Given the description of an element on the screen output the (x, y) to click on. 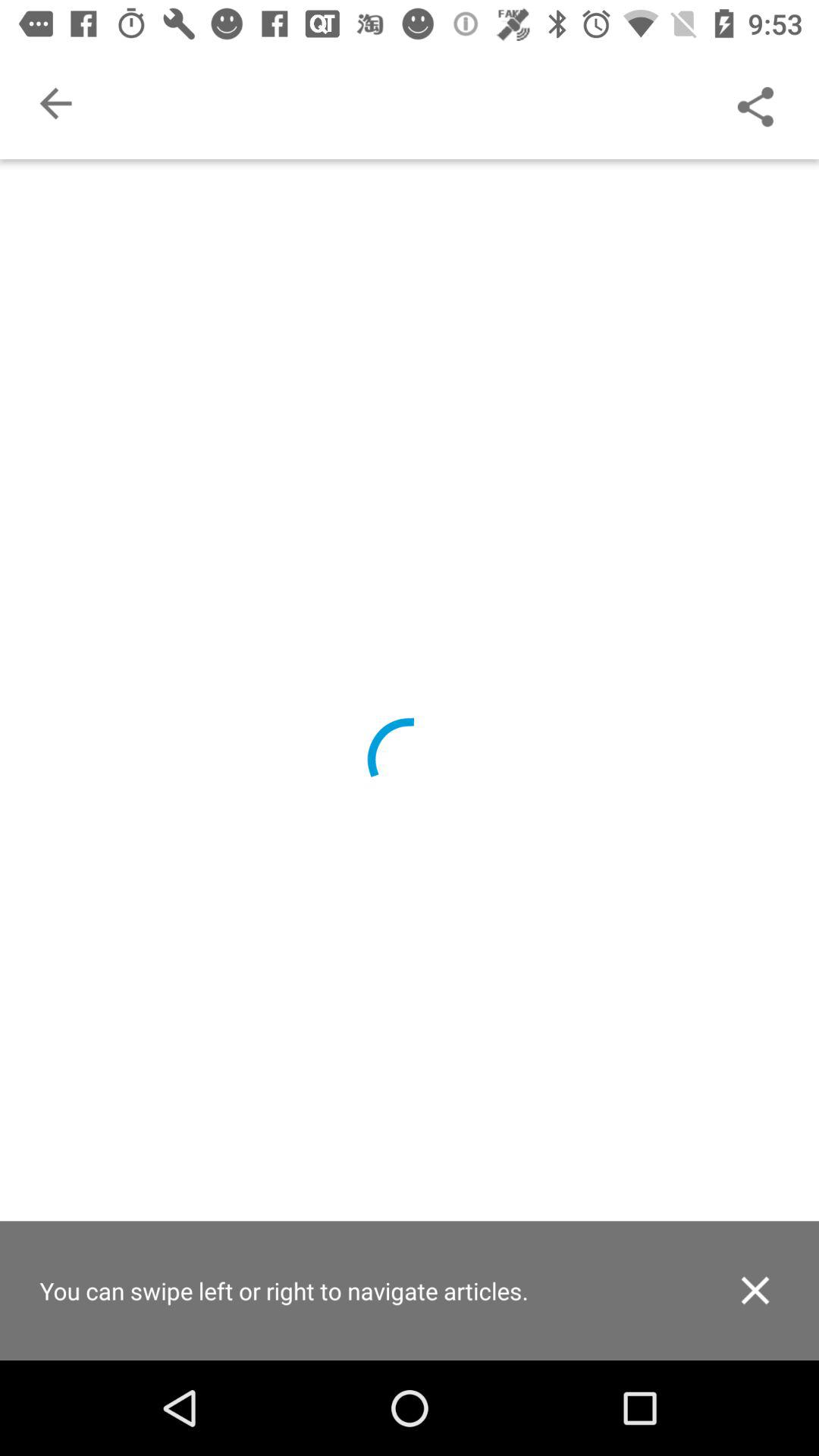
share the page (755, 103)
